Given the description of an element on the screen output the (x, y) to click on. 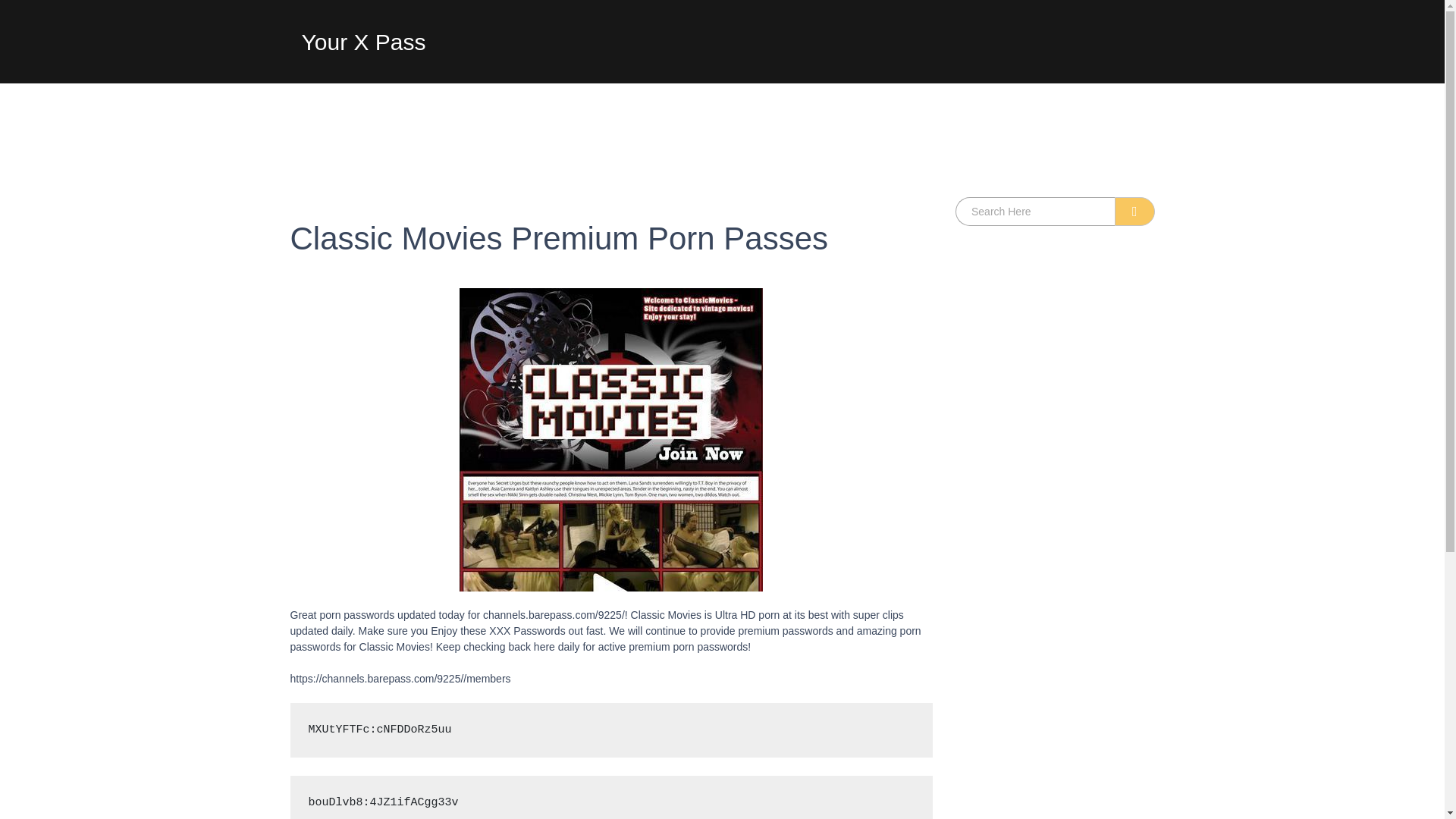
Your X Pass (363, 45)
Classic Movies (611, 439)
Classic Movies Premium Porn Passes (611, 238)
